Given the description of an element on the screen output the (x, y) to click on. 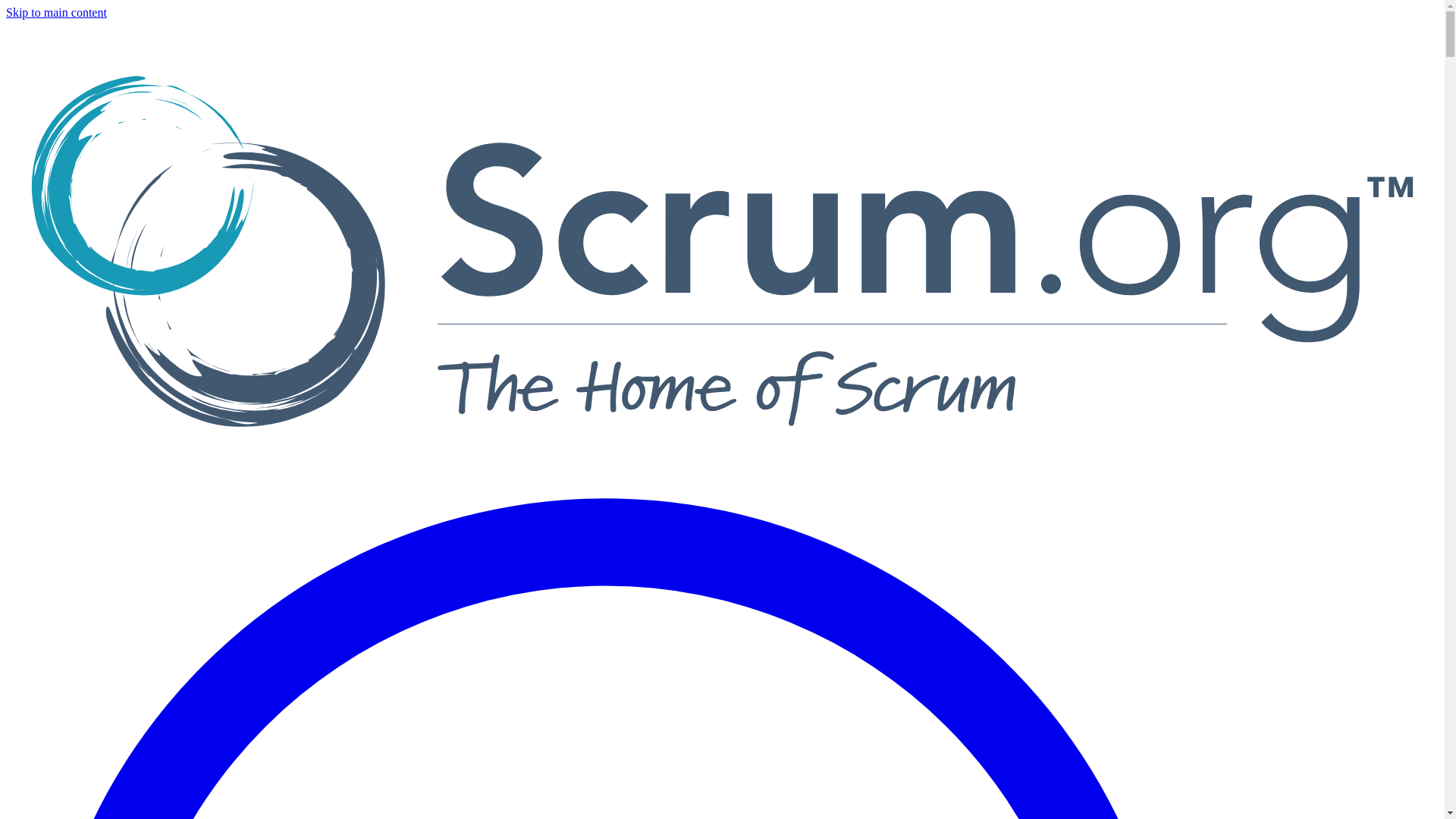
Skip to main content (55, 11)
